Given the description of an element on the screen output the (x, y) to click on. 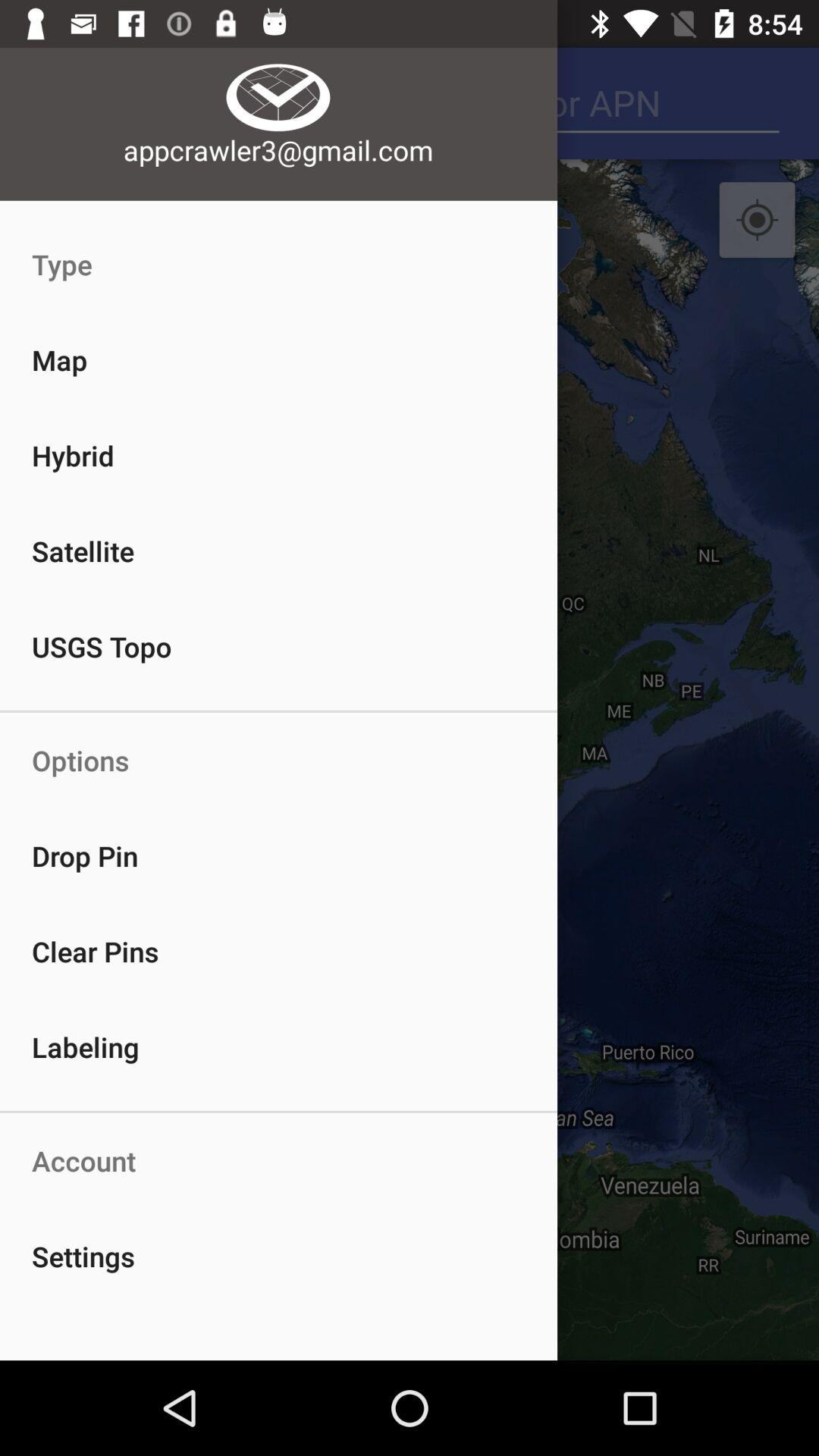
select the icon which is just top of appcrawler3gmailcom (278, 81)
